Given the description of an element on the screen output the (x, y) to click on. 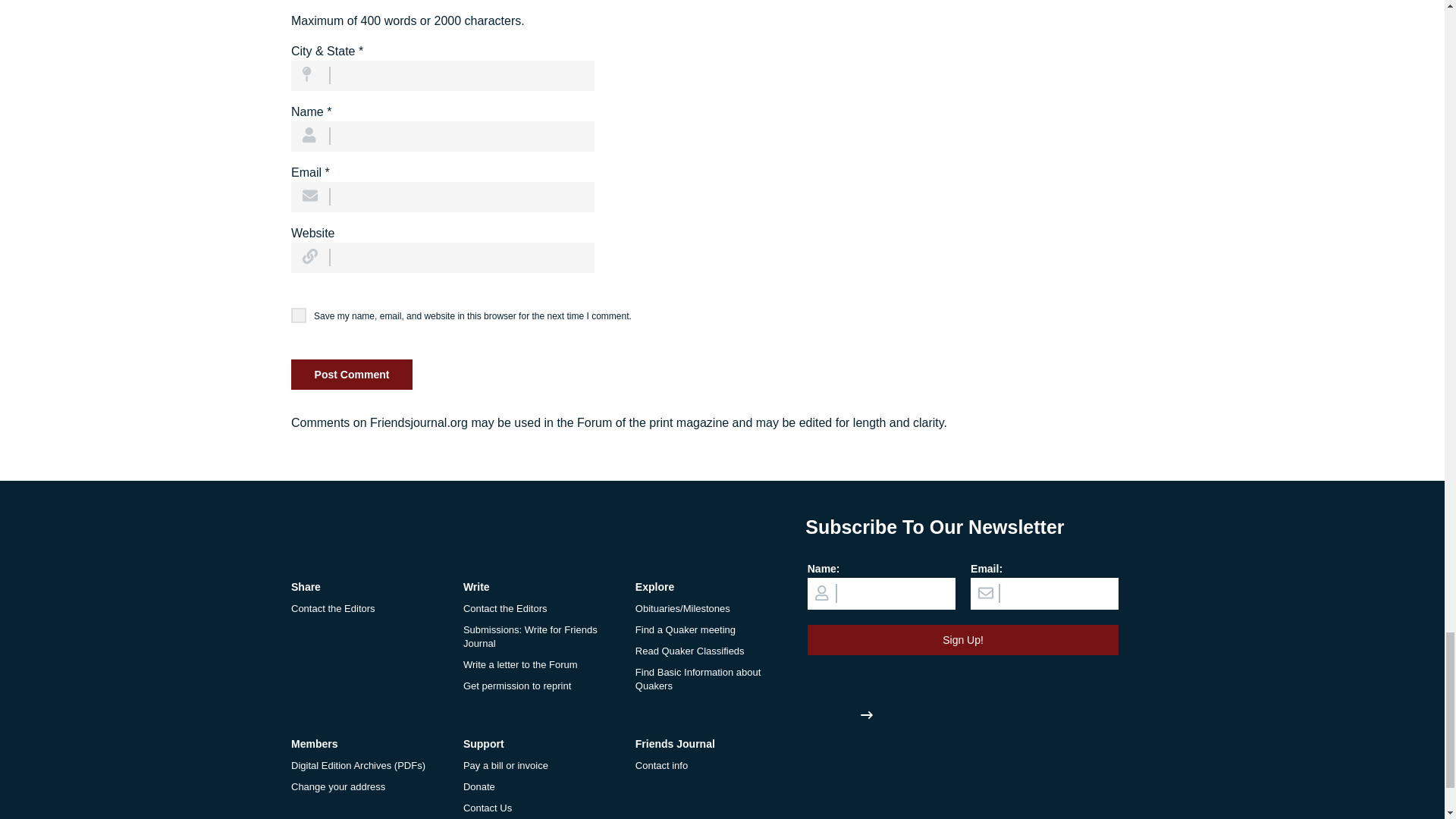
Post Comment (351, 374)
Sign Up! (963, 639)
